Given the description of an element on the screen output the (x, y) to click on. 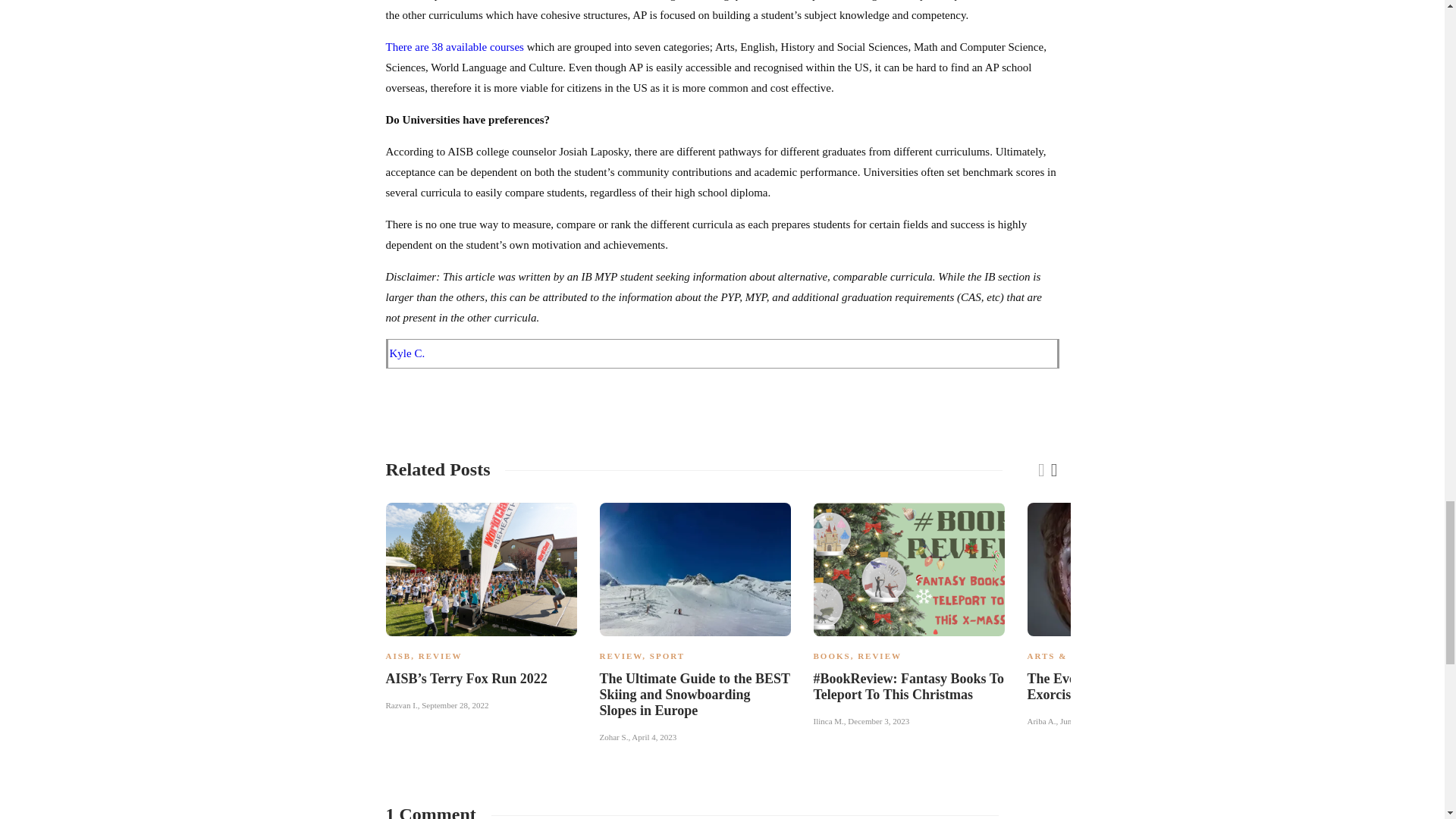
Kyle C. (407, 353)
